Given the description of an element on the screen output the (x, y) to click on. 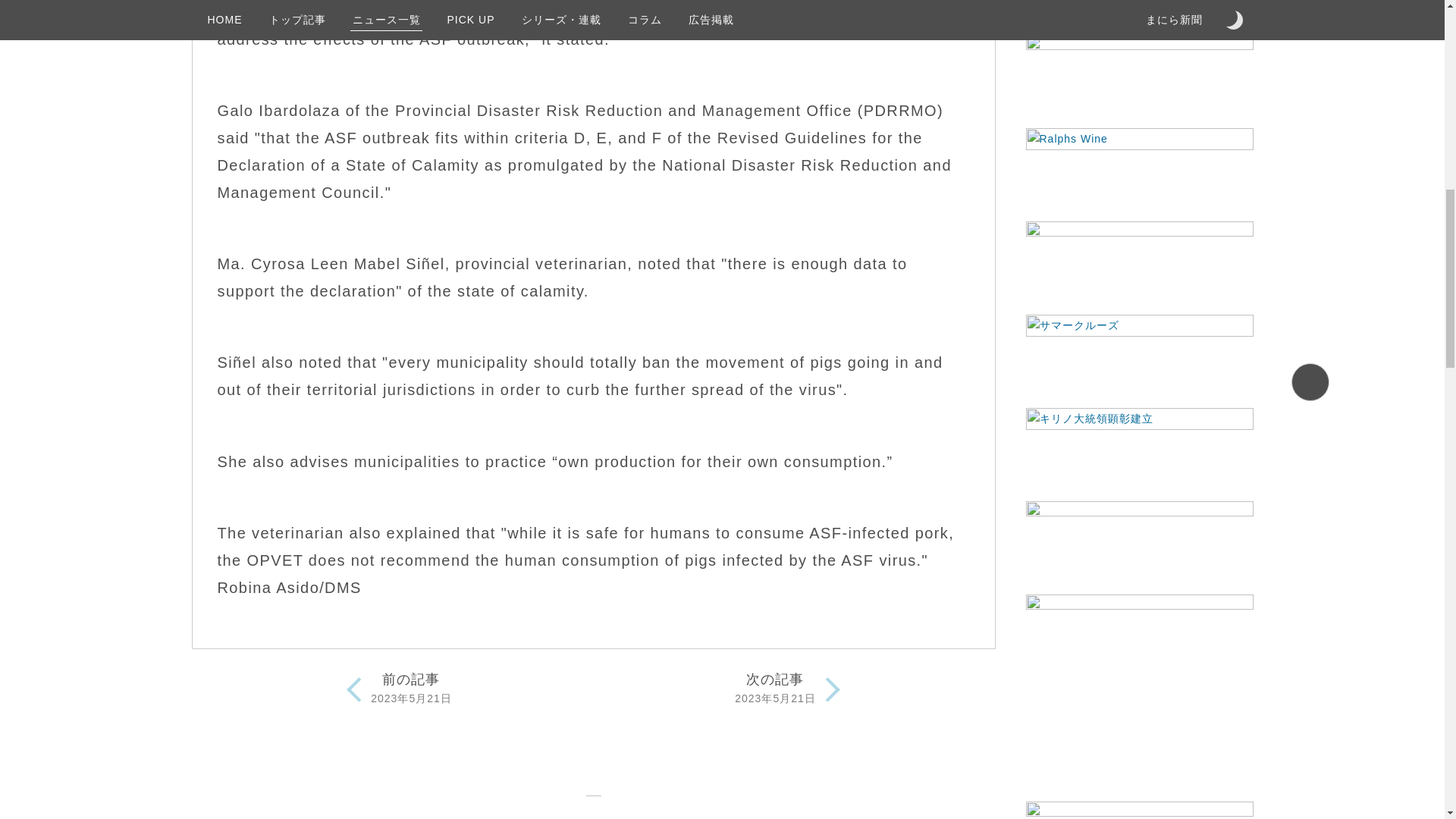
Ralphs Wine (1138, 165)
